Given the description of an element on the screen output the (x, y) to click on. 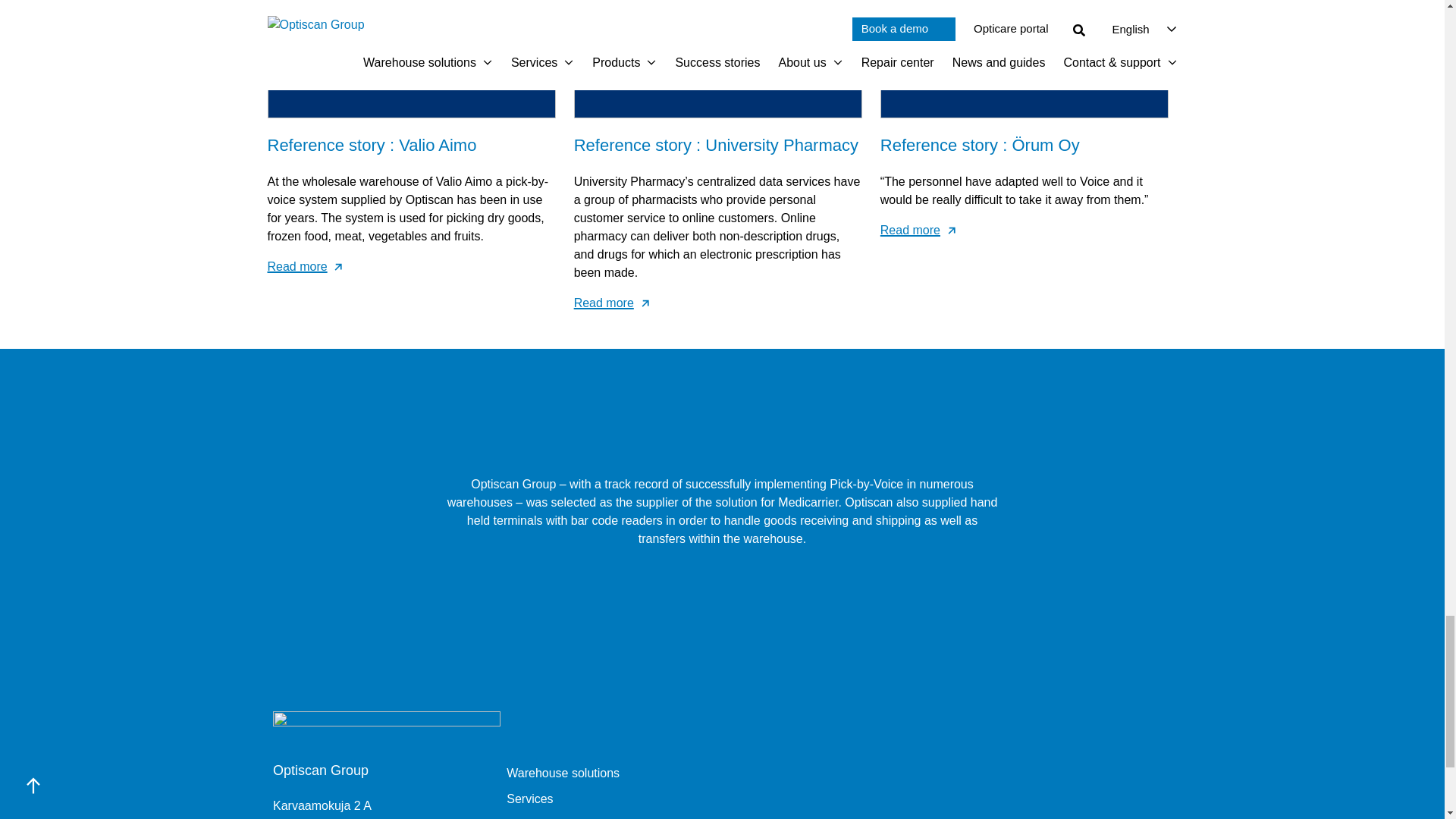
Read more (410, 266)
Read more (717, 303)
Read more (1024, 230)
